Given the description of an element on the screen output the (x, y) to click on. 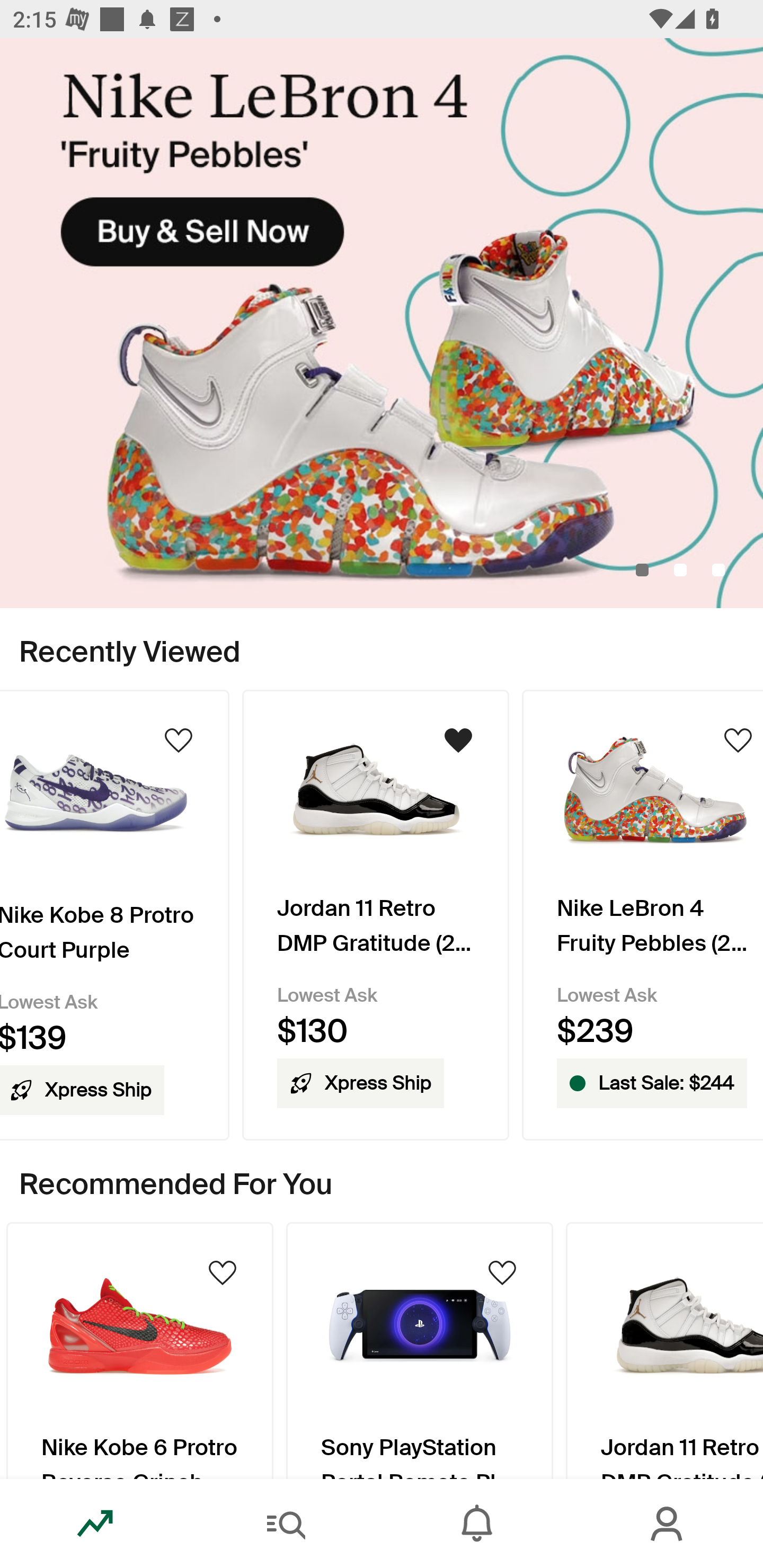
Product Image Nike Kobe 6 Protro Reverse Grinch (139, 1349)
Search (285, 1523)
Inbox (476, 1523)
Account (667, 1523)
